Given the description of an element on the screen output the (x, y) to click on. 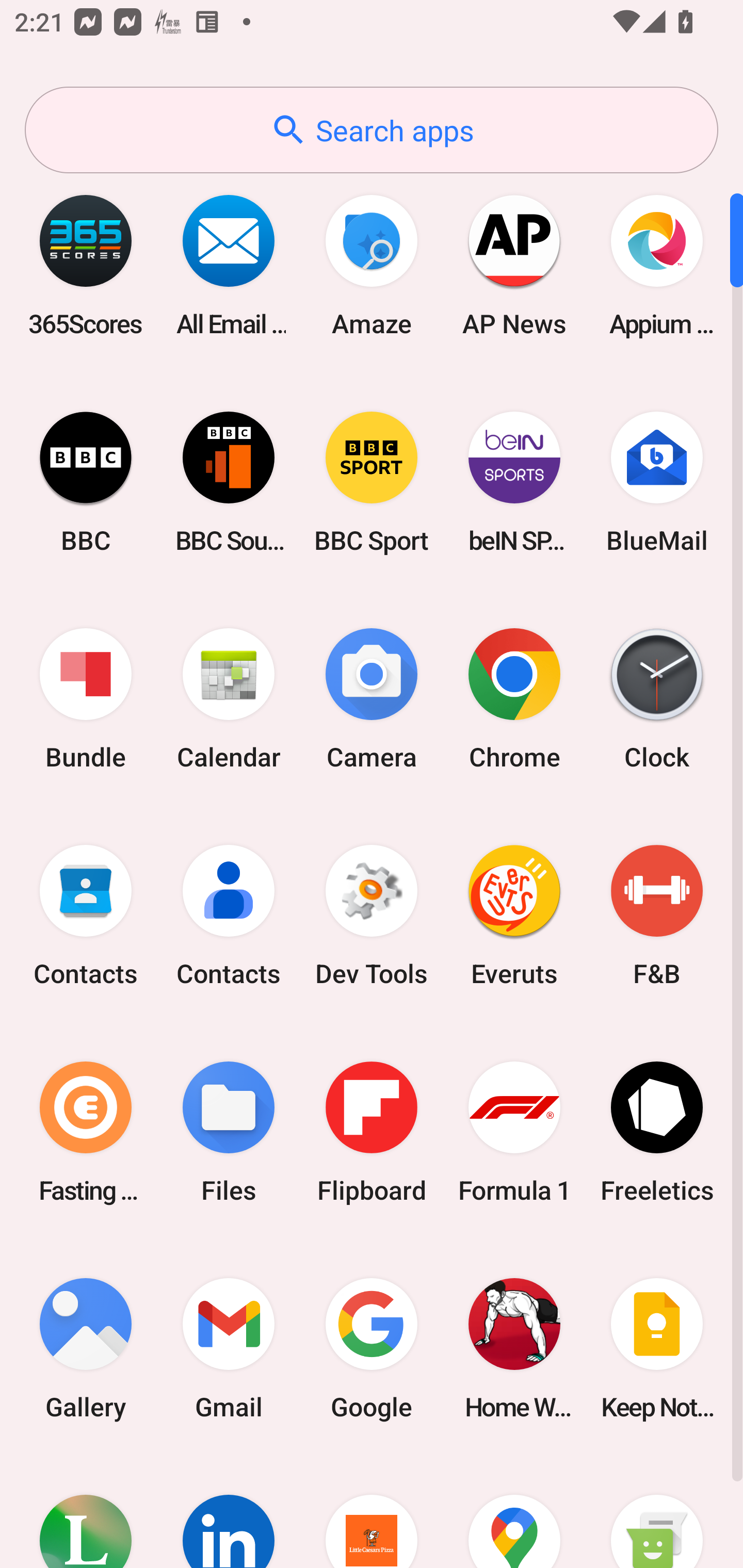
  Search apps (371, 130)
365Scores (85, 264)
All Email Connect (228, 264)
Amaze (371, 264)
AP News (514, 264)
Appium Settings (656, 264)
BBC (85, 482)
BBC Sounds (228, 482)
BBC Sport (371, 482)
beIN SPORTS (514, 482)
BlueMail (656, 482)
Bundle (85, 699)
Calendar (228, 699)
Camera (371, 699)
Chrome (514, 699)
Clock (656, 699)
Contacts (85, 915)
Contacts (228, 915)
Dev Tools (371, 915)
Everuts (514, 915)
F&B (656, 915)
Fasting Coach (85, 1131)
Files (228, 1131)
Flipboard (371, 1131)
Formula 1 (514, 1131)
Freeletics (656, 1131)
Gallery (85, 1348)
Gmail (228, 1348)
Google (371, 1348)
Home Workout (514, 1348)
Keep Notes (656, 1348)
Lifesum (85, 1512)
LinkedIn (228, 1512)
Little Caesars Pizza (371, 1512)
Maps (514, 1512)
Messaging (656, 1512)
